Given the description of an element on the screen output the (x, y) to click on. 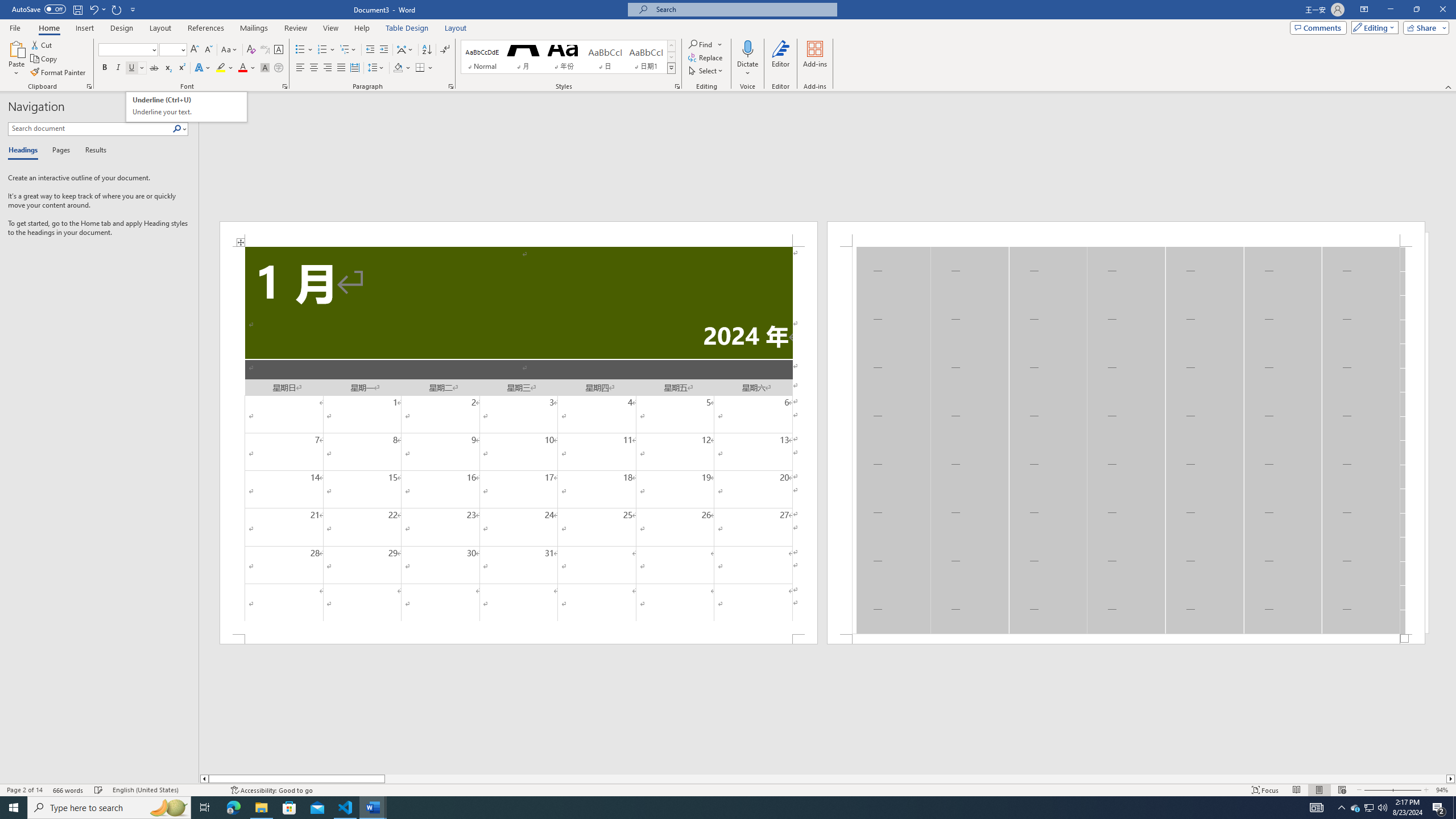
Page 1 content (518, 439)
Sort... (426, 49)
Font Color RGB(255, 0, 0) (241, 67)
Footer -Section 1- (1126, 638)
Justify (340, 67)
Page Number Page 2 of 14 (24, 790)
Word Count 666 words (68, 790)
